Given the description of an element on the screen output the (x, y) to click on. 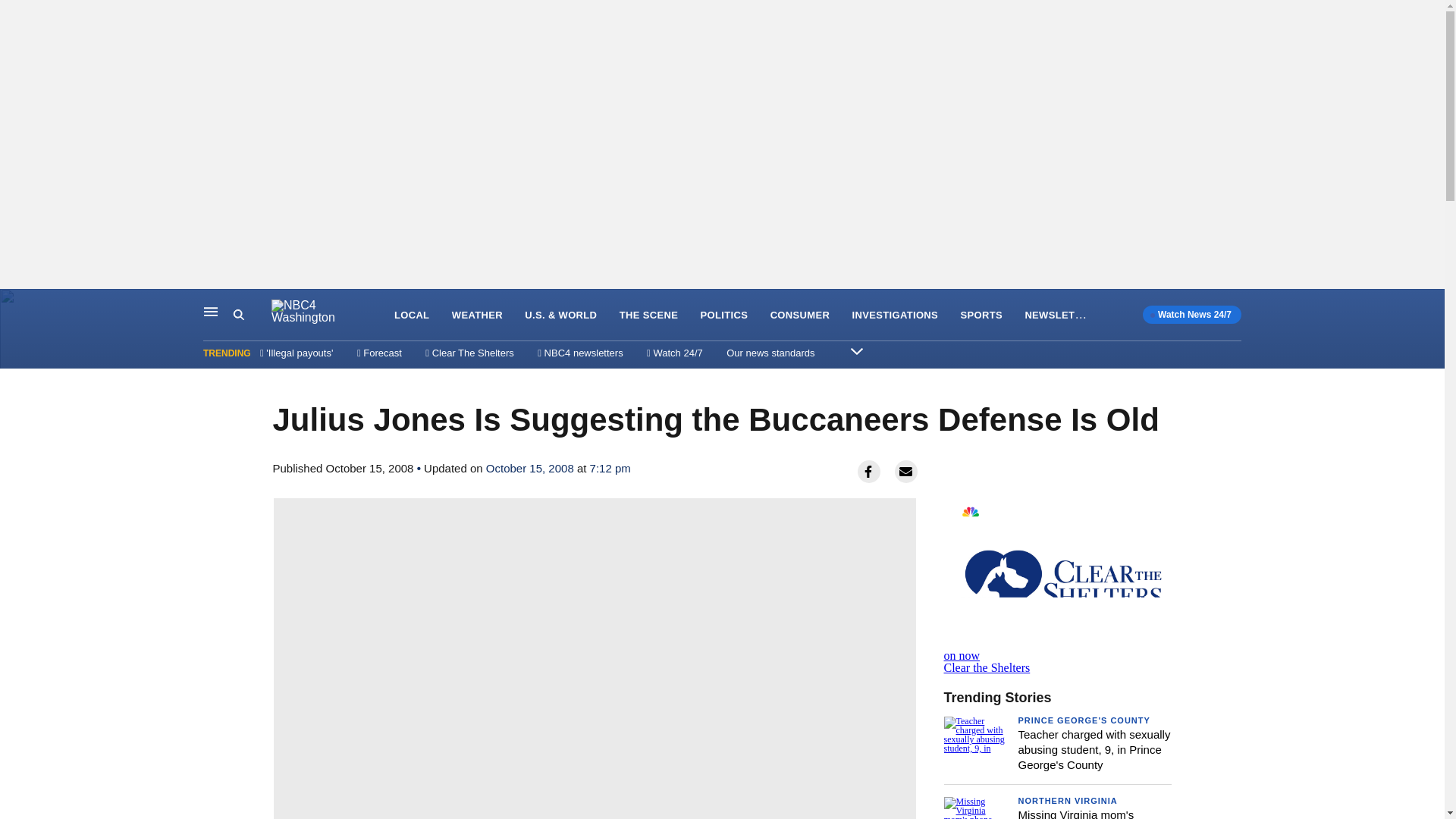
SPORTS (980, 315)
Search (252, 314)
WEATHER (476, 315)
Main Navigation (210, 311)
Expand (856, 350)
POLITICS (724, 315)
INVESTIGATIONS (894, 315)
Search (238, 314)
LOCAL (411, 315)
THE SCENE (649, 315)
